Given the description of an element on the screen output the (x, y) to click on. 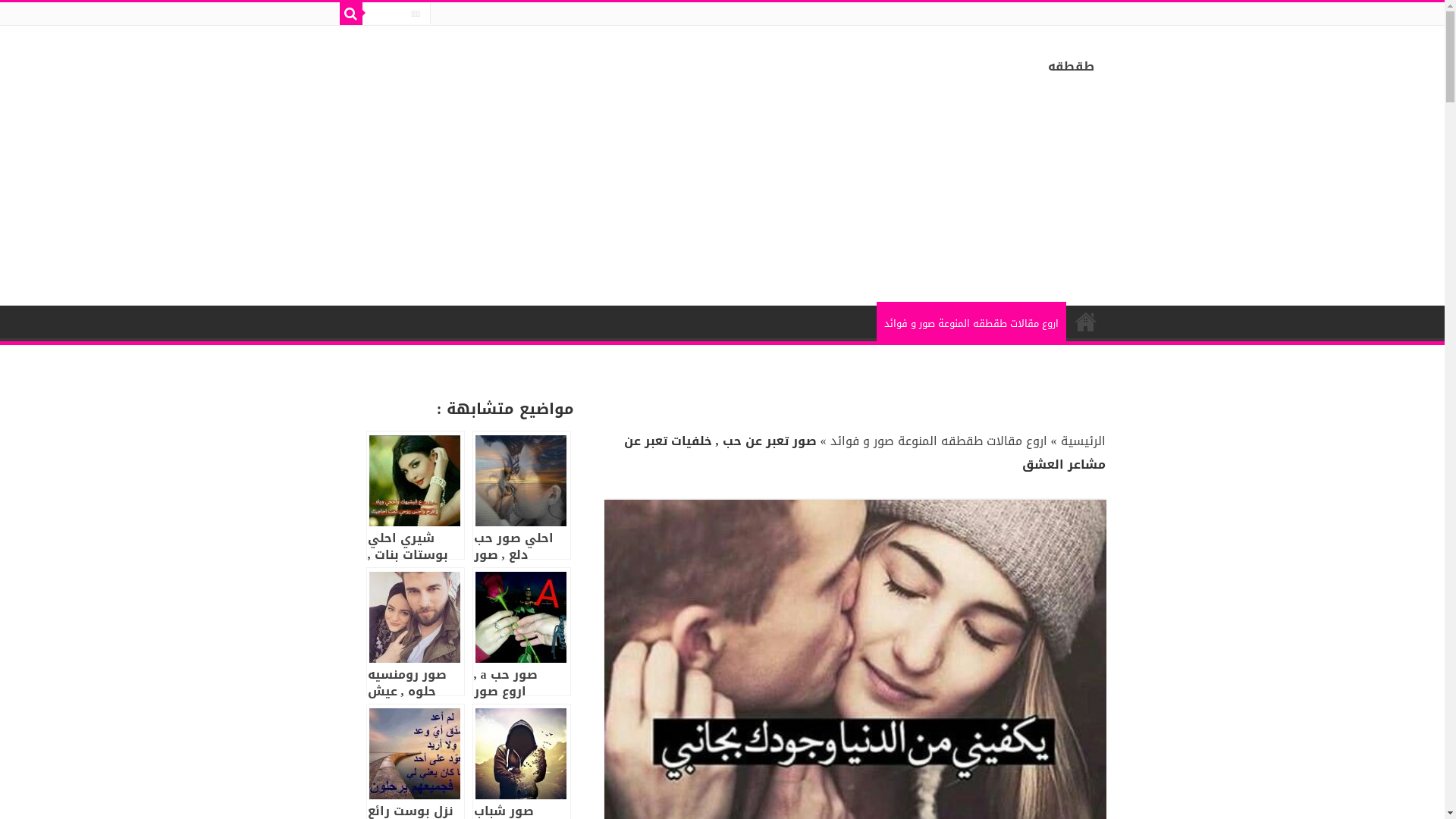
Advertisement Element type: hover (989, 199)
